Given the description of an element on the screen output the (x, y) to click on. 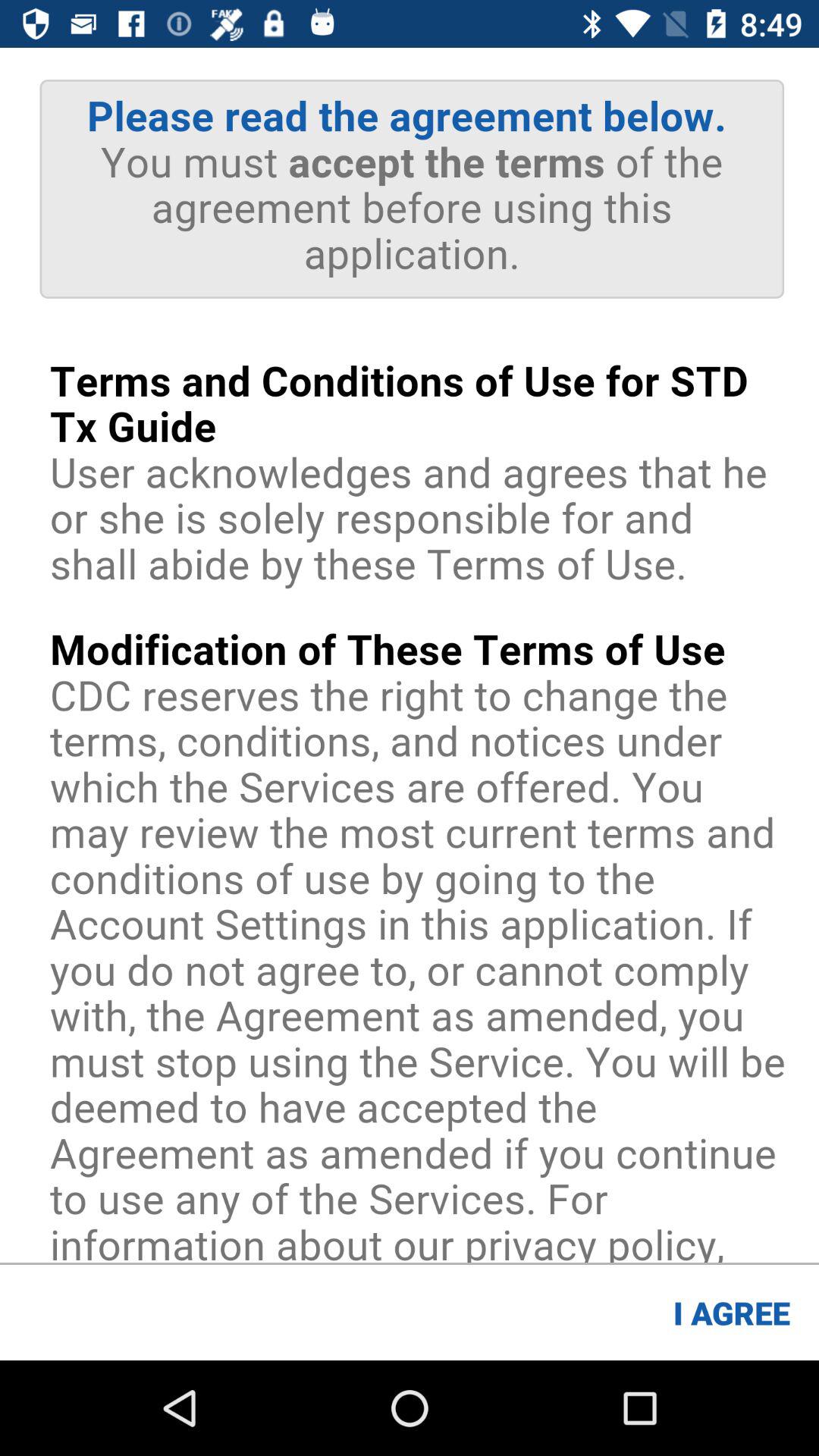
see they image (409, 654)
